Given the description of an element on the screen output the (x, y) to click on. 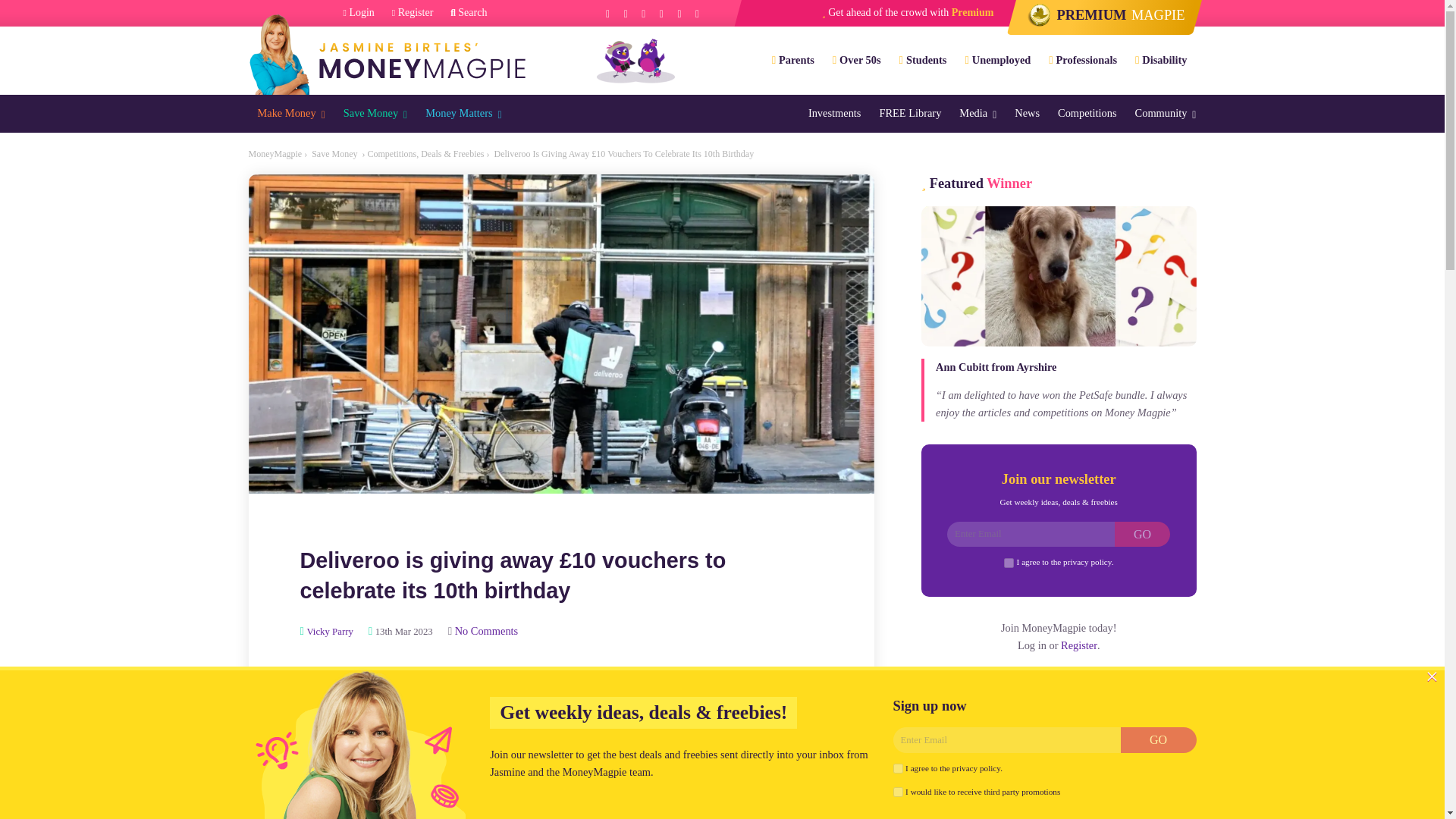
Share on Pinterest (433, 678)
Share on Facebook (349, 678)
Register (412, 12)
Go to MoneyMagpie. (275, 153)
1 (897, 768)
Search (467, 12)
Share on Twitter (391, 678)
Share on Email (476, 678)
Login (358, 12)
1 (1008, 562)
1 (897, 791)
